Given the description of an element on the screen output the (x, y) to click on. 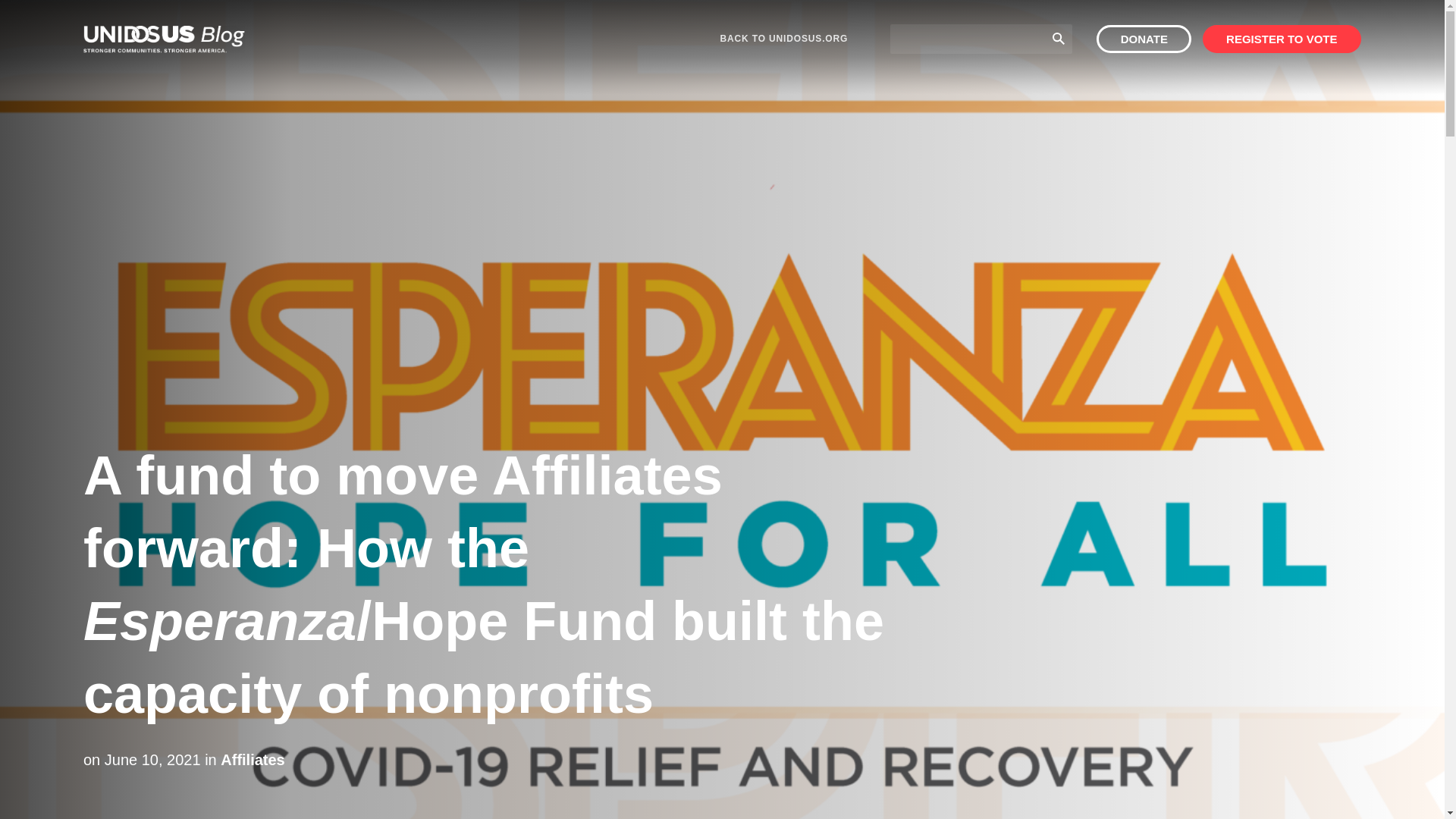
Affiliates (252, 759)
BACK TO UNIDOSUS.ORG (784, 39)
REGISTER TO VOTE (1281, 39)
Blog (163, 39)
Submit Search (1058, 37)
DONATE (1143, 39)
